Given the description of an element on the screen output the (x, y) to click on. 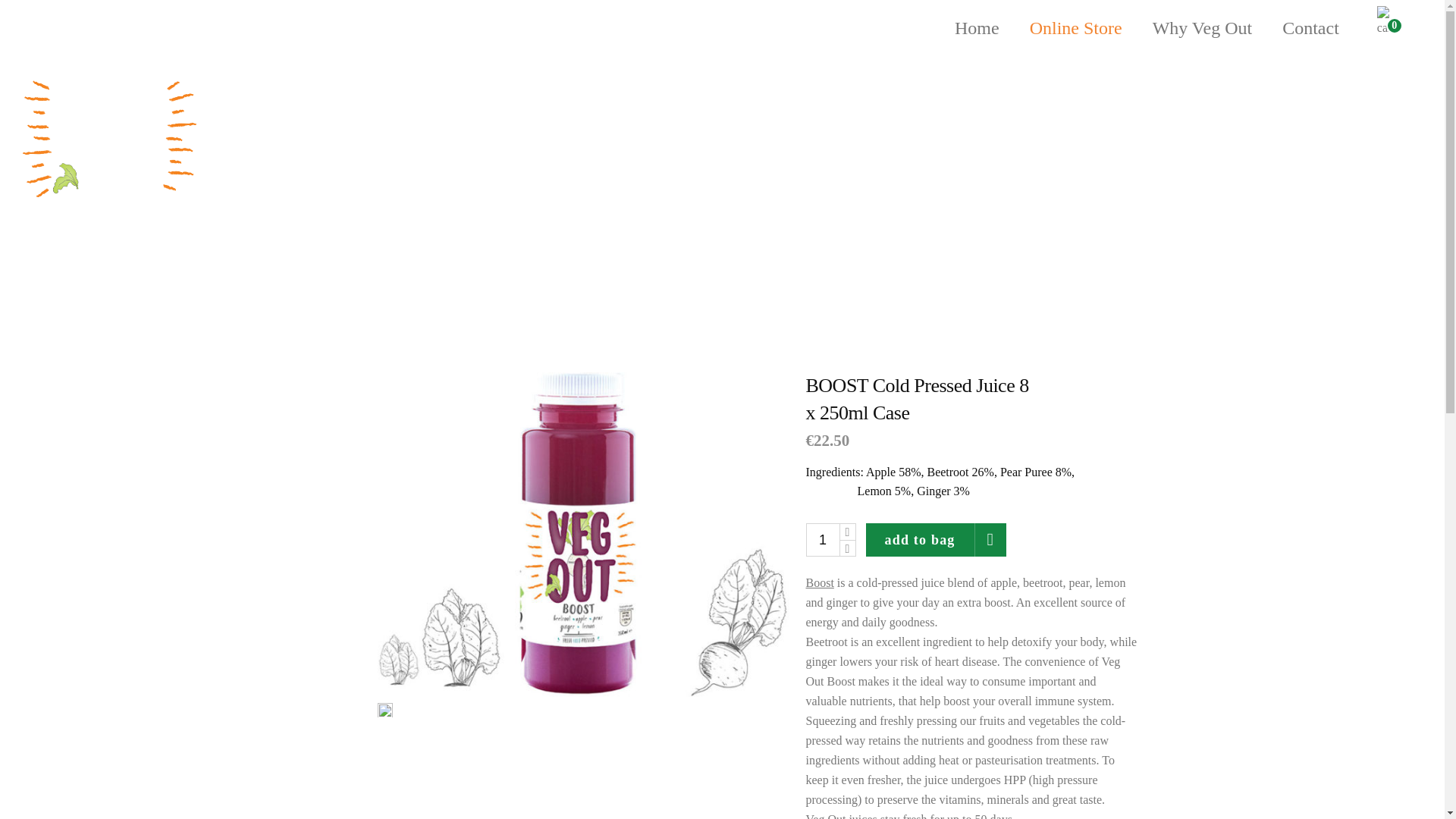
Why Veg Out (1202, 28)
Detox Cold Pressed Juice (583, 534)
Qty (821, 539)
Contact (1310, 28)
Online Store (1075, 28)
add to bag (936, 539)
1 (821, 539)
Home (976, 28)
